Given the description of an element on the screen output the (x, y) to click on. 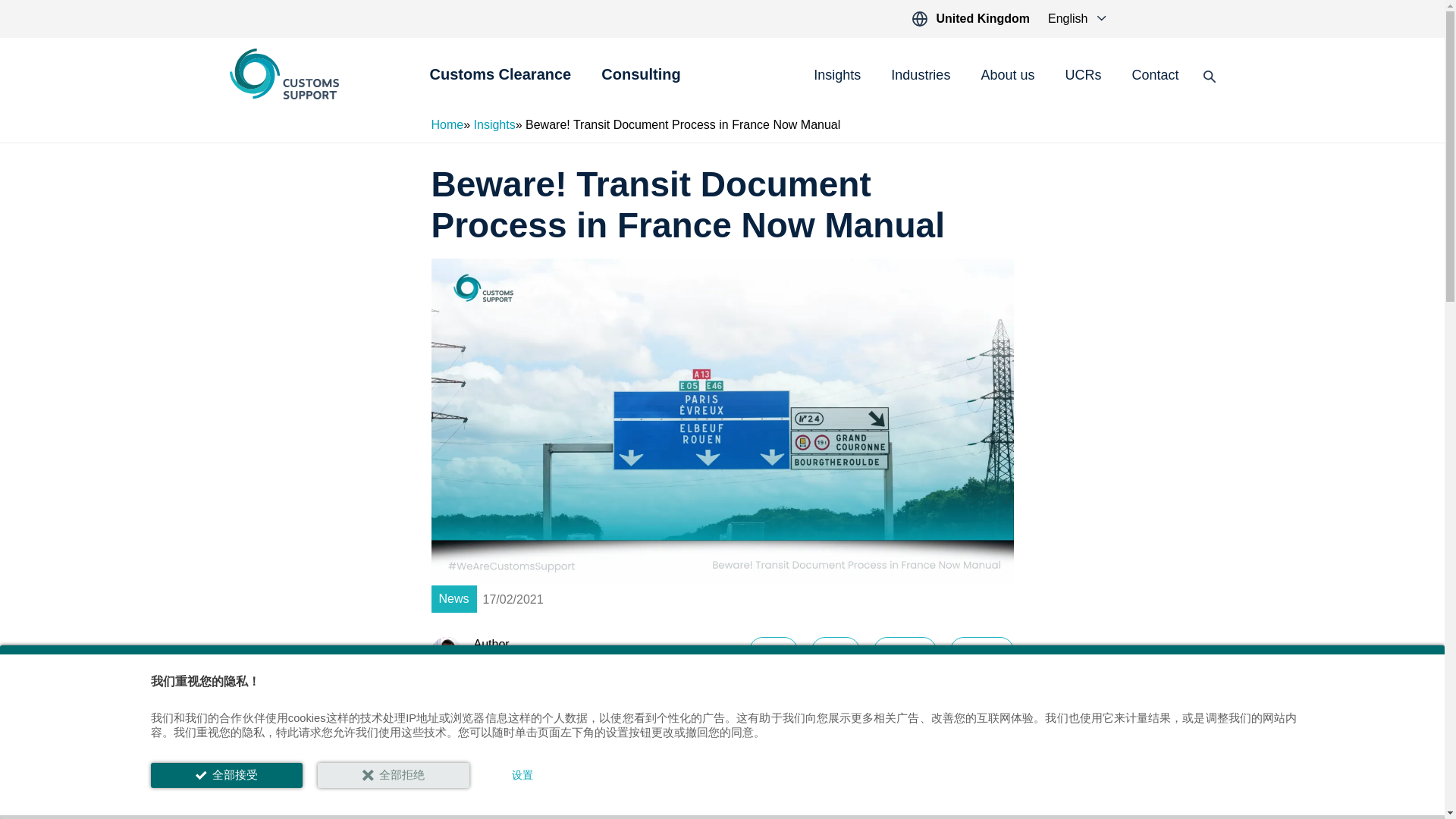
Consulting (640, 83)
Industries (920, 75)
Customs Clearance (499, 83)
Customs Clearance (499, 83)
Insights (836, 75)
Industries (920, 75)
Insights (836, 75)
Consulting services (640, 83)
